Given the description of an element on the screen output the (x, y) to click on. 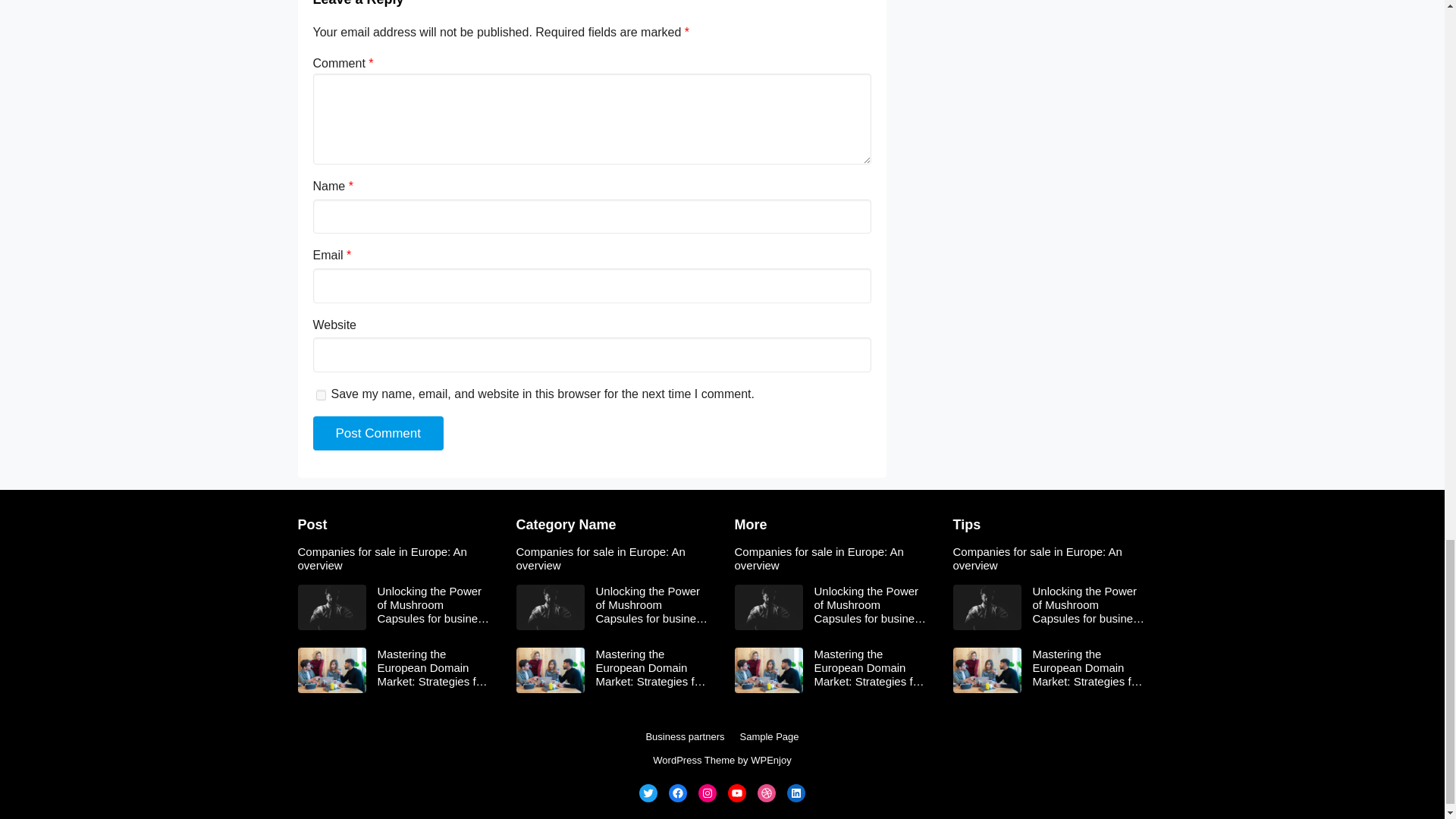
Companies for sale in Europe: An overview (394, 558)
Unlocking the Power of Mushroom Capsules for business owners (434, 604)
Post Comment (377, 433)
Post Comment (377, 433)
Category Name (565, 524)
Companies for sale in Europe: An overview (612, 558)
